Given the description of an element on the screen output the (x, y) to click on. 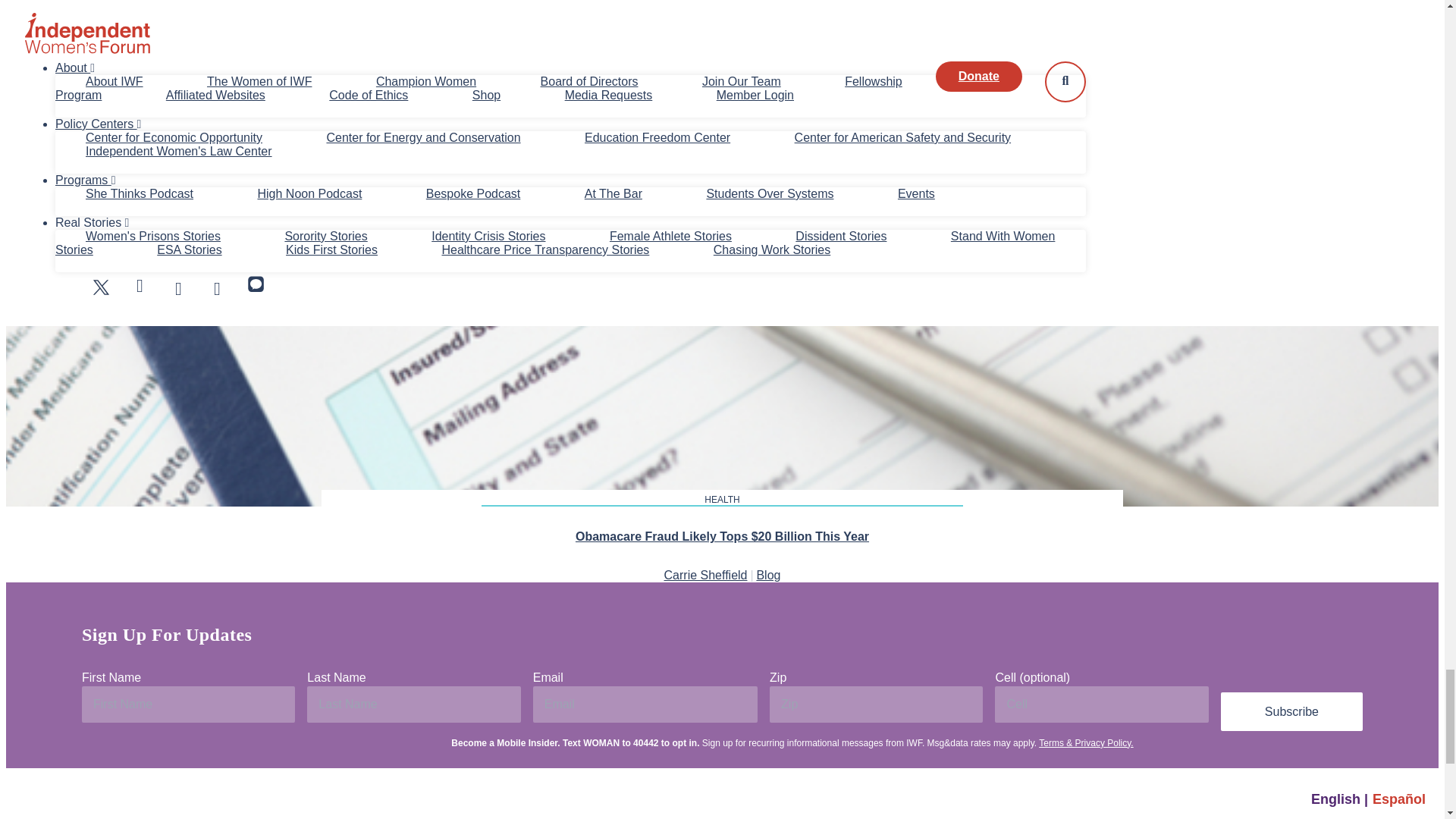
Subscribe (1291, 711)
